Given the description of an element on the screen output the (x, y) to click on. 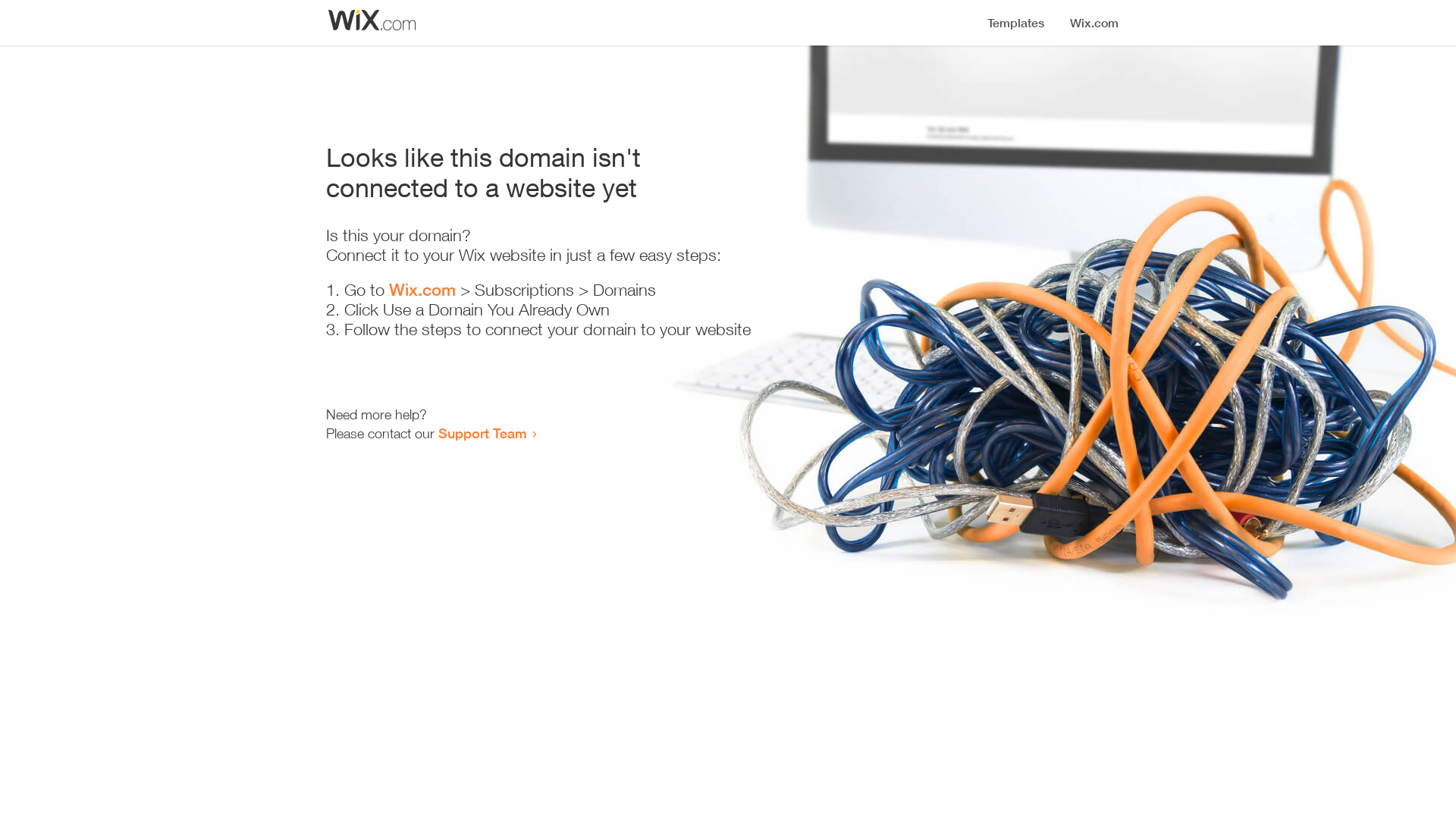
Wix.com Element type: text (422, 289)
Support Team Element type: text (482, 432)
